Given the description of an element on the screen output the (x, y) to click on. 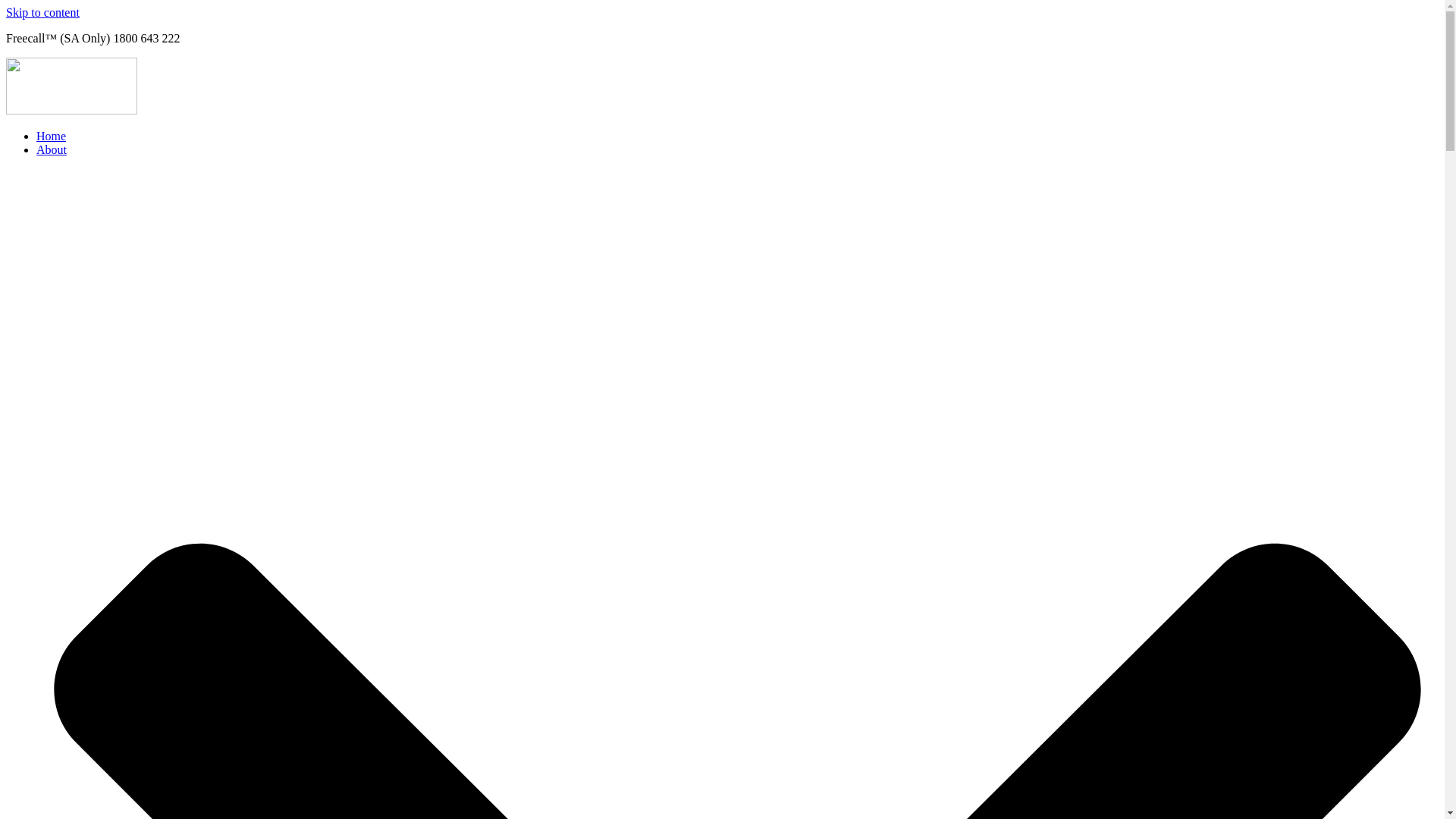
Skip to content Element type: text (42, 12)
Home Element type: text (50, 135)
